Given the description of an element on the screen output the (x, y) to click on. 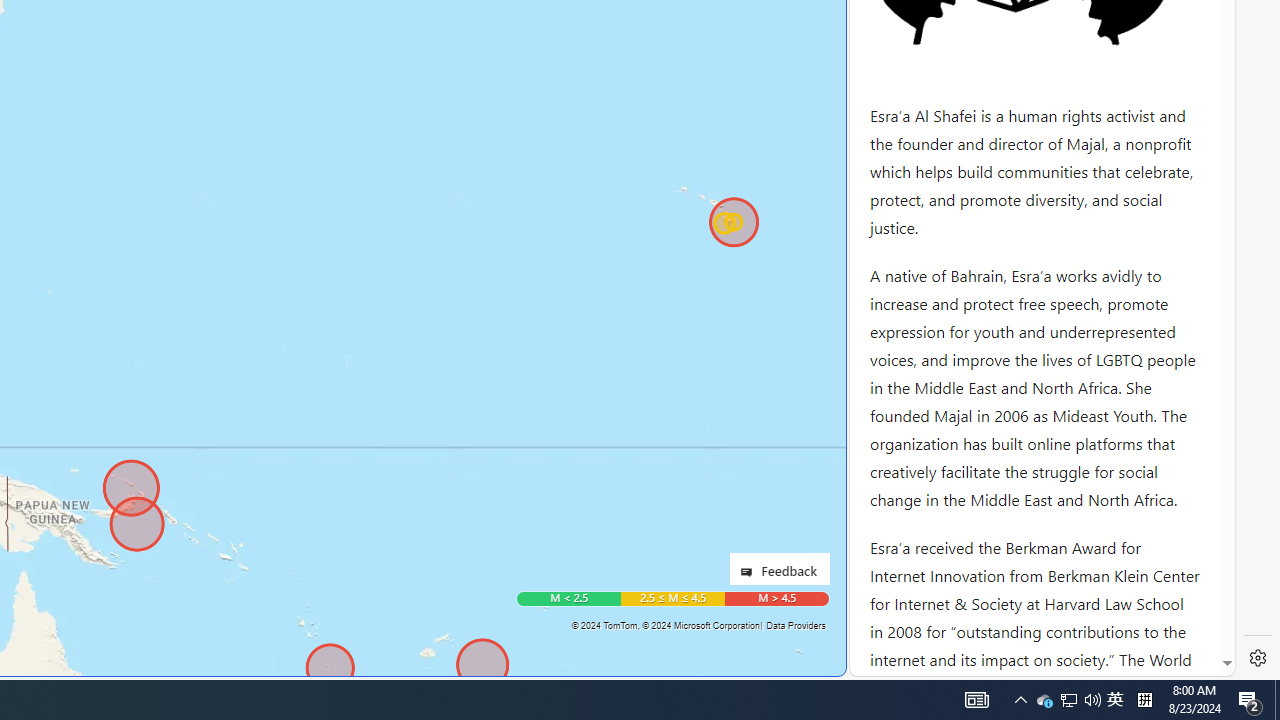
Class: feedback_link_icon-DS-EntryPoint1-1 (749, 571)
MSN (687, 223)
Global web icon (888, 663)
Feedback (779, 568)
Data Providers (795, 625)
Actions for this site (1129, 306)
